Given the description of an element on the screen output the (x, y) to click on. 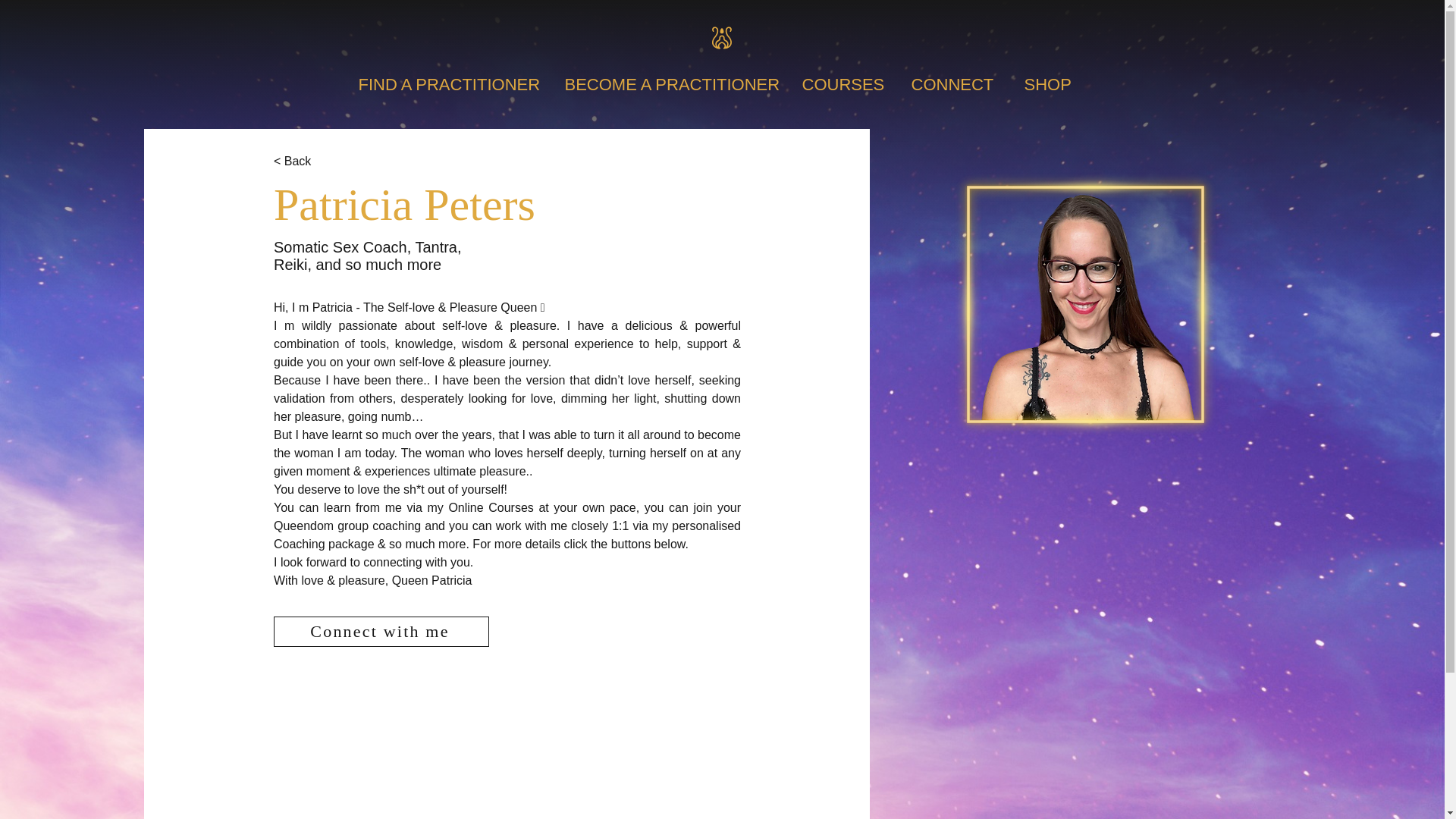
FIND A PRACTITIONER (453, 84)
Connect with me (381, 631)
COURSES (849, 84)
SHOP (1054, 84)
CONNECT (960, 84)
Patricia Peters.5x.png (1085, 304)
